Given the description of an element on the screen output the (x, y) to click on. 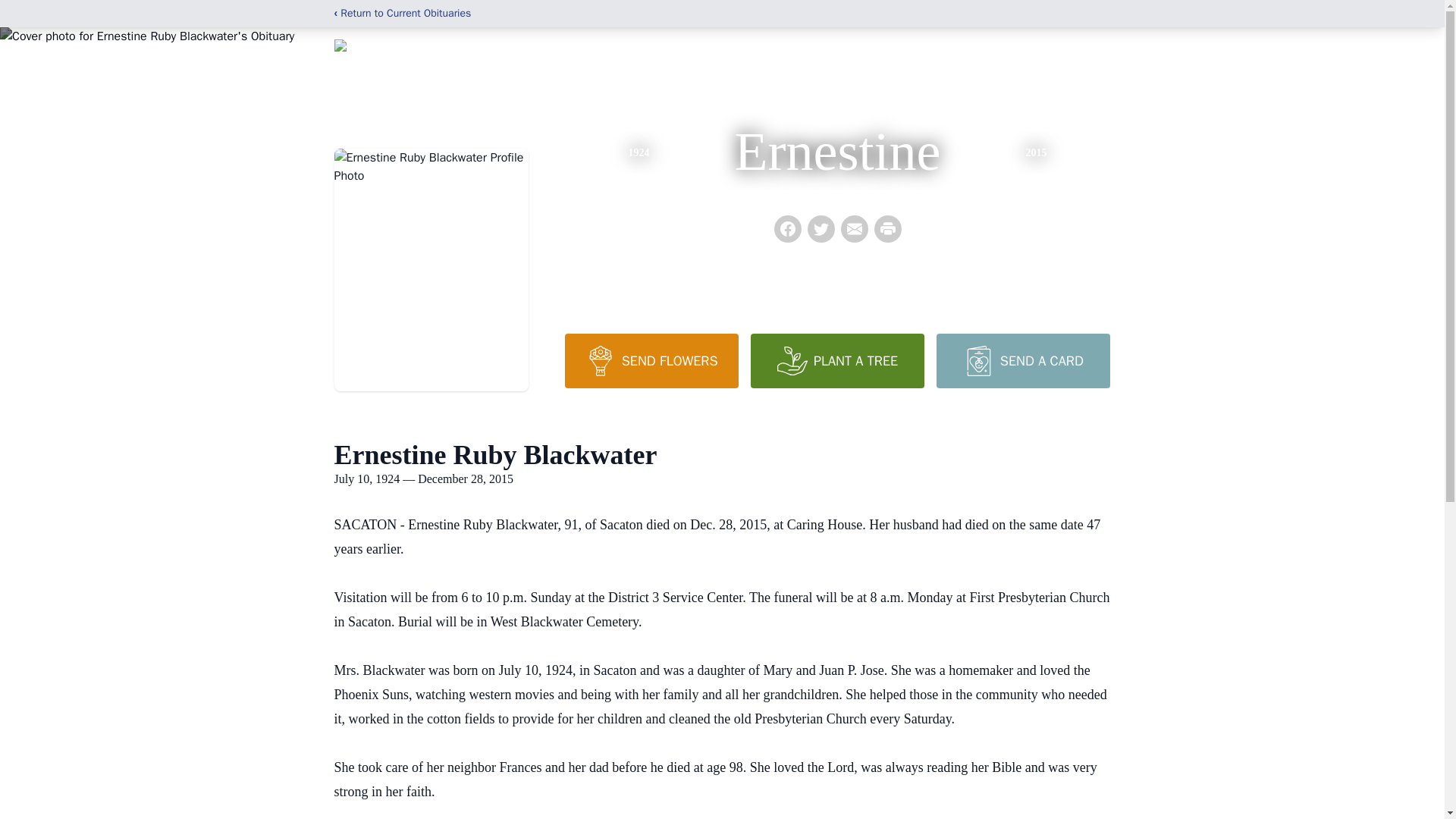
SEND A CARD (1022, 360)
PLANT A TREE (837, 360)
SEND FLOWERS (651, 360)
